Given the description of an element on the screen output the (x, y) to click on. 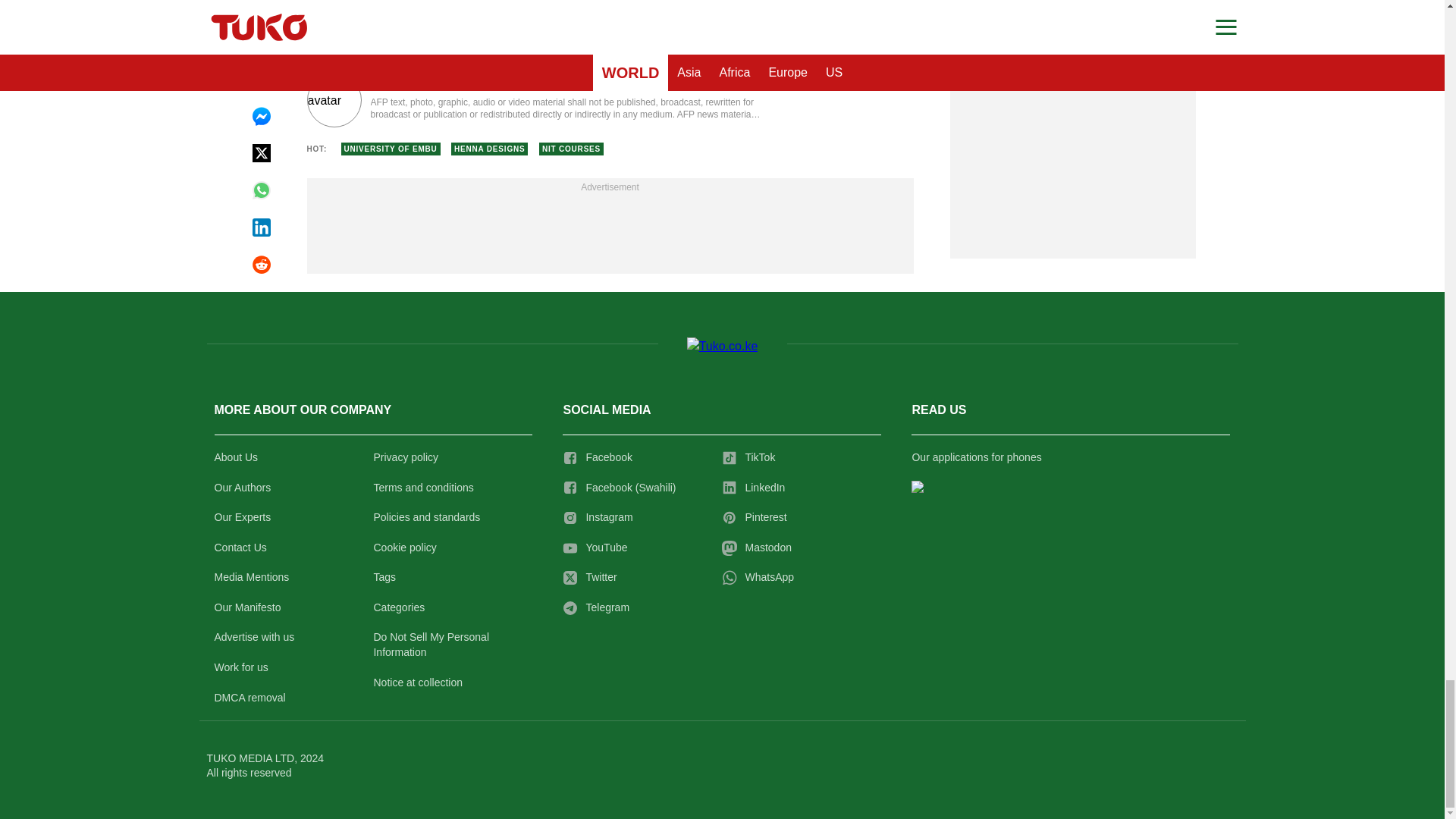
Author page (533, 99)
